Given the description of an element on the screen output the (x, y) to click on. 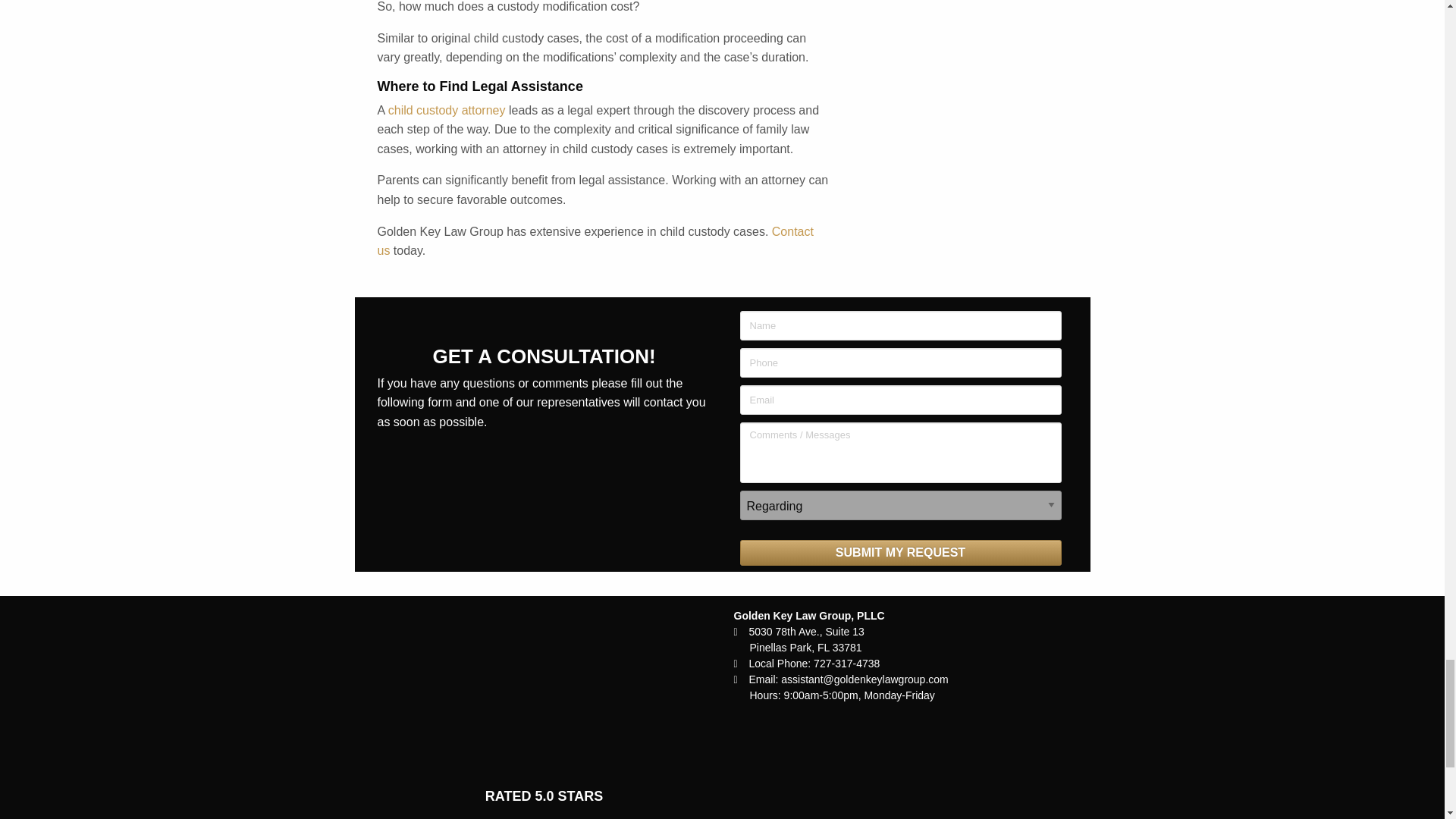
Contact us (595, 241)
SUBMIT MY REQUEST (900, 552)
child custody attorney (446, 110)
